Given the description of an element on the screen output the (x, y) to click on. 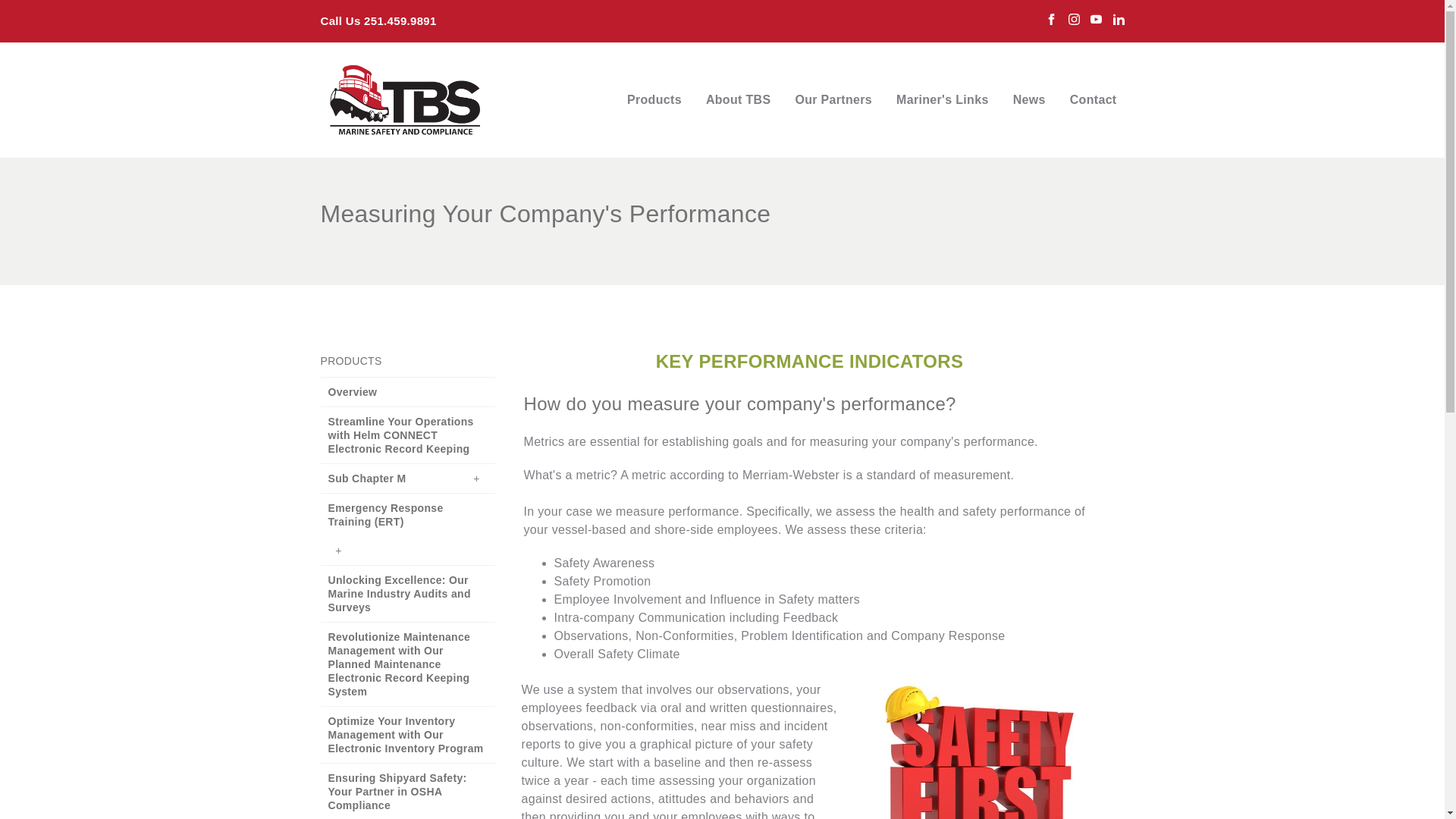
Mariner's Links (942, 99)
Our Partners (833, 99)
251.459.9891 (400, 20)
Products (654, 99)
About TBS (738, 99)
Contact (1093, 99)
News (1029, 99)
